Given the description of an element on the screen output the (x, y) to click on. 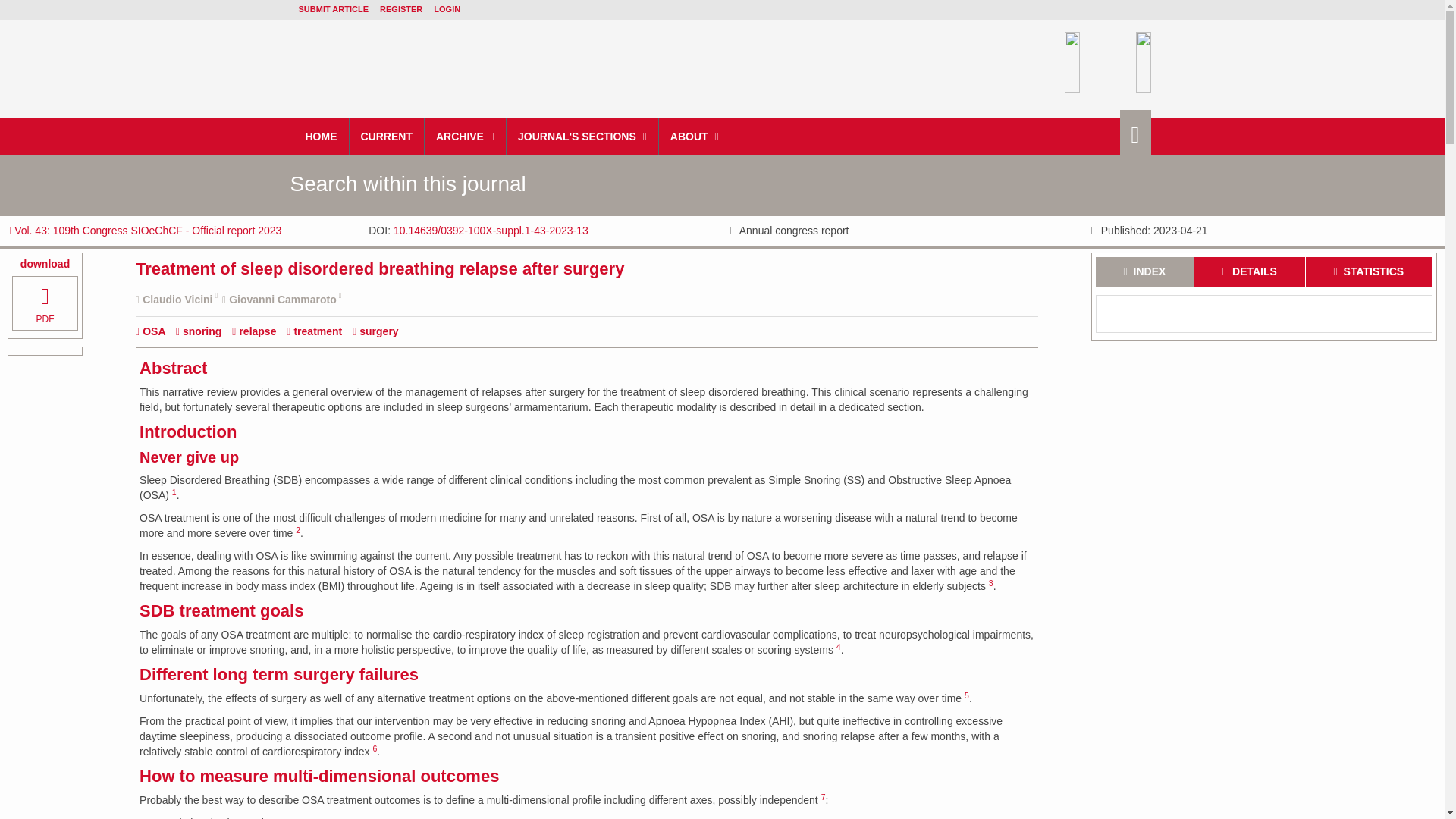
REGISTER (401, 8)
ABOUT (694, 136)
SUBMIT ARTICLE (333, 8)
CURRENT (386, 136)
LOGIN (446, 8)
JOURNAL'S SECTIONS (582, 136)
HOME (321, 136)
ARCHIVE (465, 136)
